Given the description of an element on the screen output the (x, y) to click on. 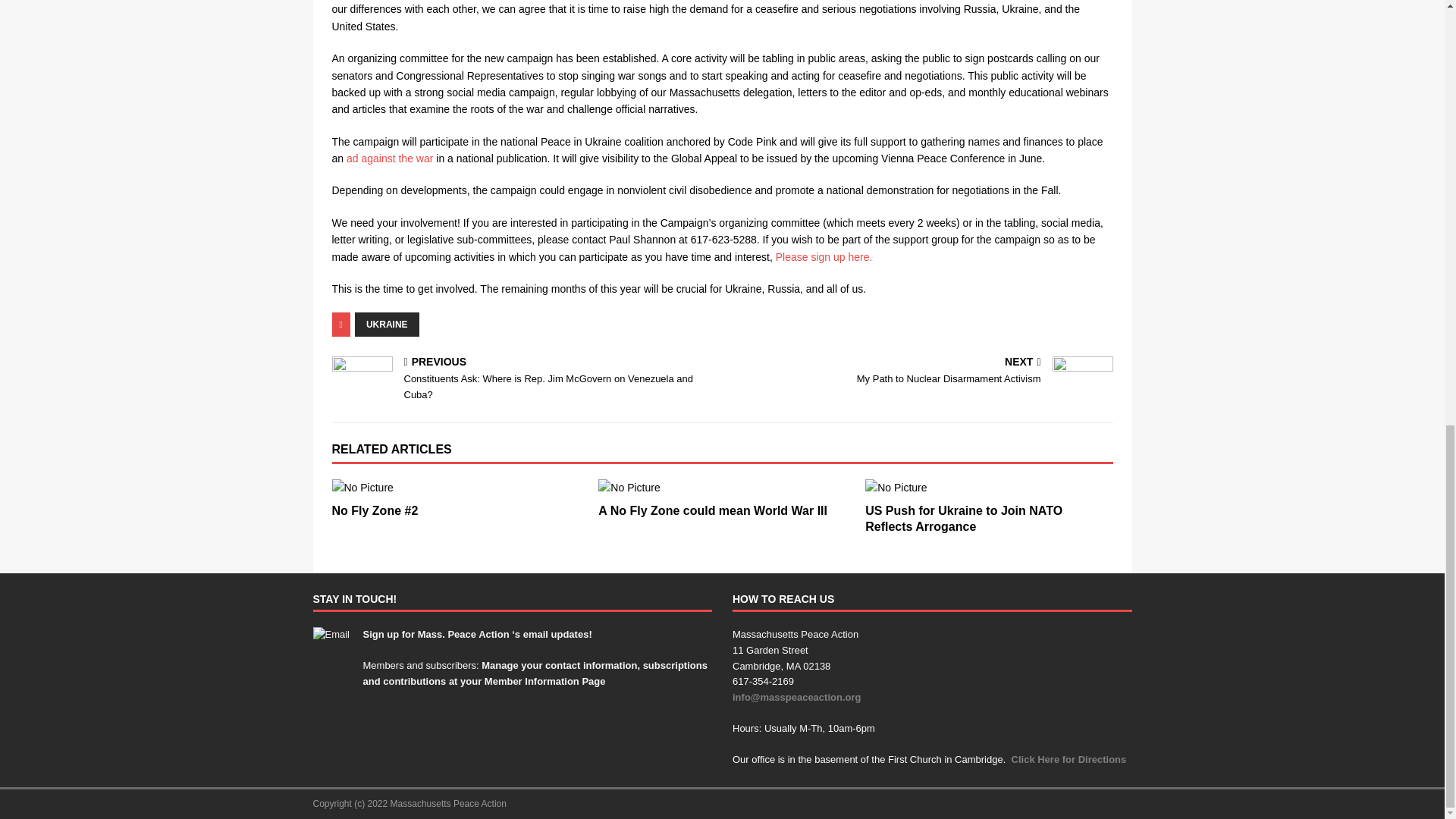
US Push for Ukraine to Join NATO Reflects Arrogance (963, 518)
A No Fly Zone could mean World War III (712, 510)
US Push for Ukraine to Join NATO Reflects Arrogance (988, 487)
A No Fly Zone could mean World War III (721, 487)
